Given the description of an element on the screen output the (x, y) to click on. 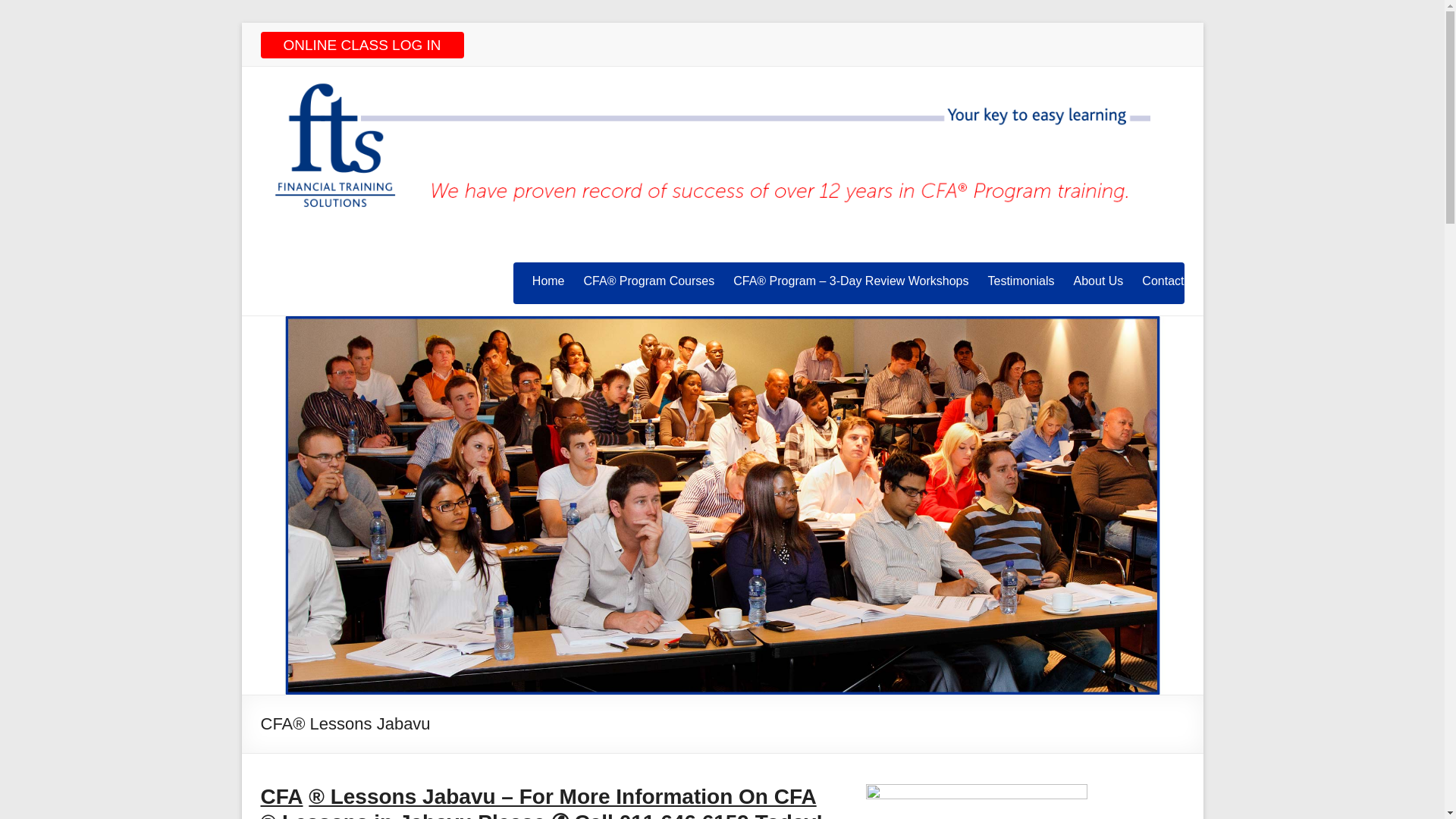
Testimonials (1021, 281)
Home (548, 281)
ONLINE CLASS LOG IN (362, 44)
About Us (1099, 281)
Contact (1162, 281)
